Given the description of an element on the screen output the (x, y) to click on. 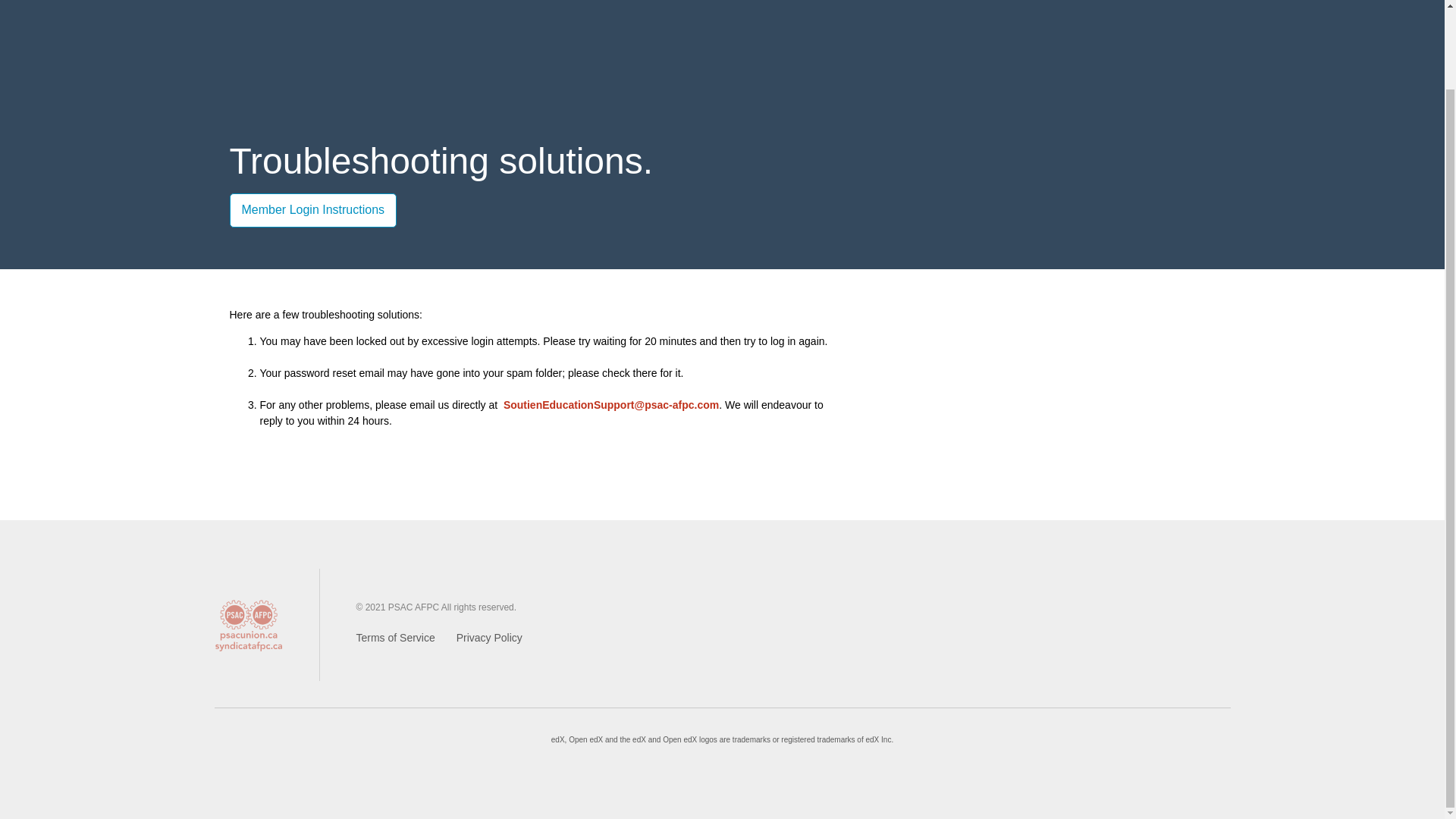
Member Login Instructions (312, 210)
Privacy Policy (489, 637)
Terms of Service (395, 637)
